Given the description of an element on the screen output the (x, y) to click on. 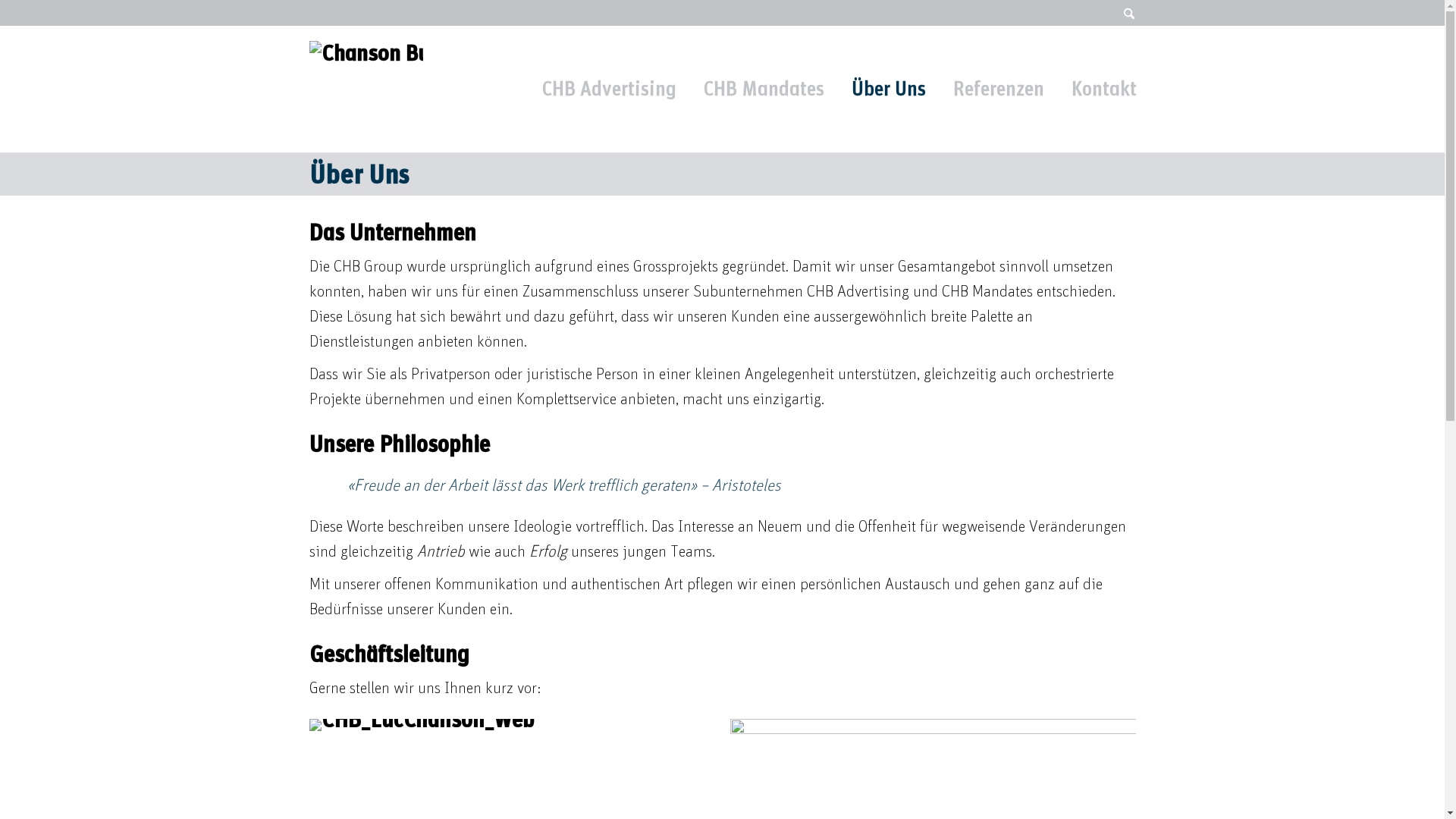
CHB Mandates Element type: text (763, 88)
Chanson Business GmbH Element type: hover (366, 87)
Kontakt Element type: text (1103, 88)
Referenzen Element type: text (998, 88)
CHB Advertising Element type: text (609, 88)
